Given the description of an element on the screen output the (x, y) to click on. 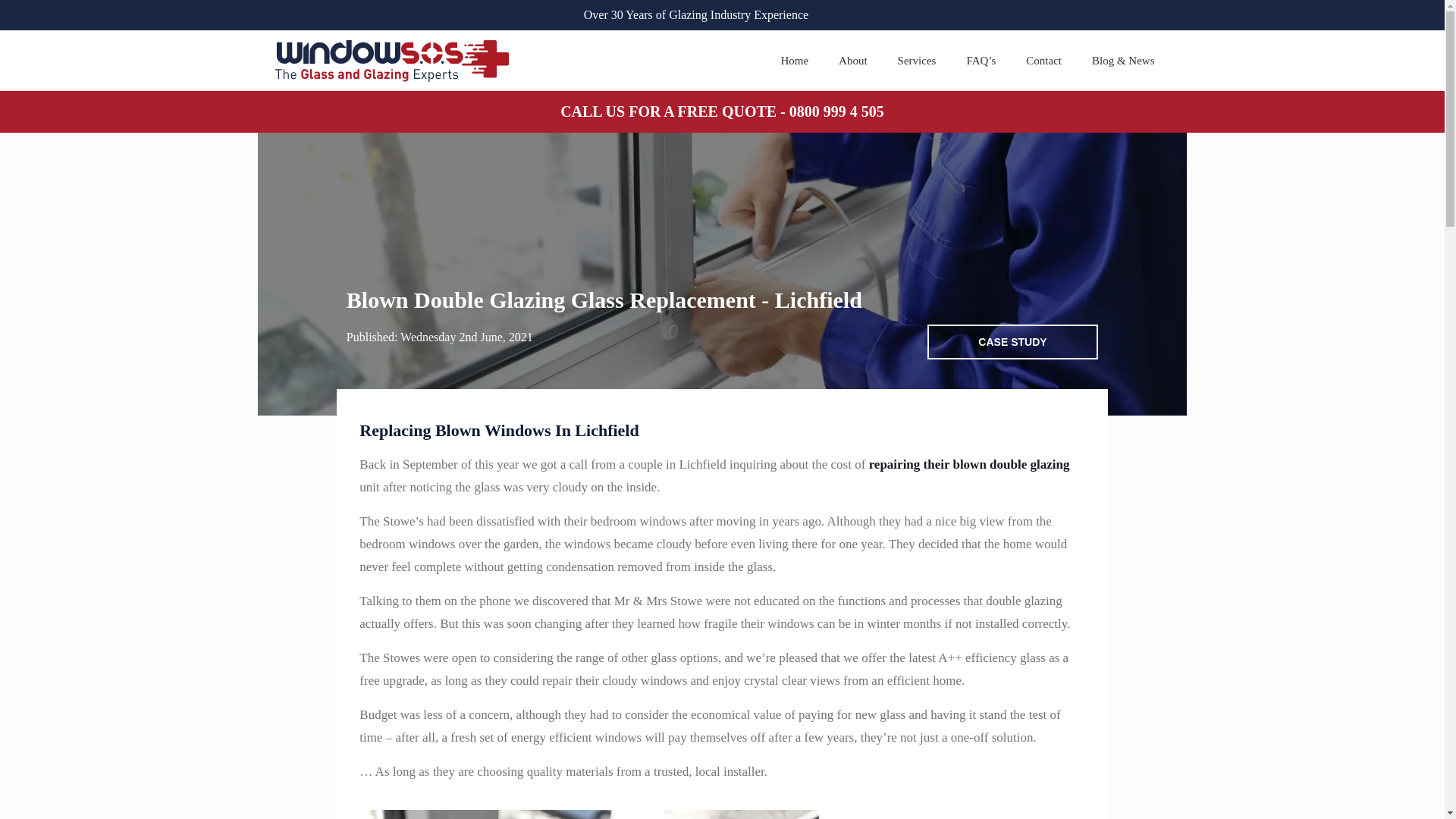
CASE STUDY (1012, 341)
Home (794, 60)
About (853, 60)
0800 999 4 505 (836, 111)
repairing their blown double glazing (969, 464)
Services (917, 60)
Contact (1043, 60)
